Given the description of an element on the screen output the (x, y) to click on. 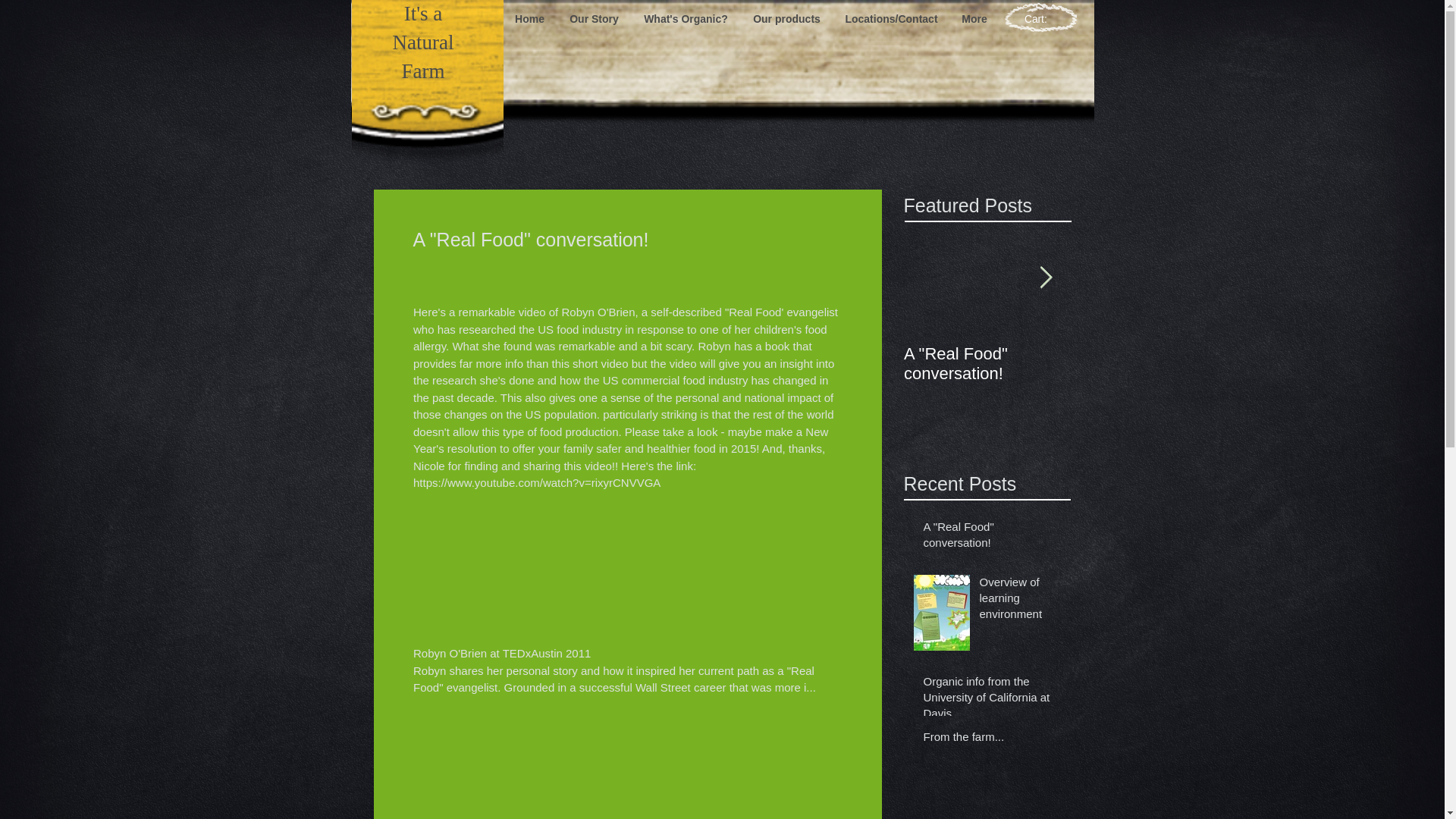
Overview of learning environment (1020, 601)
From the farm... (992, 739)
Our Story (593, 18)
Cart: (1042, 19)
Overview of learning environment (1153, 363)
Cart: (1042, 19)
Home (529, 18)
What's Organic? (684, 18)
A "Real Food" conversation! (987, 363)
Our products (785, 18)
Organic info from the University of California at Davis (992, 700)
A "Real Food" conversation! (992, 537)
